Given the description of an element on the screen output the (x, y) to click on. 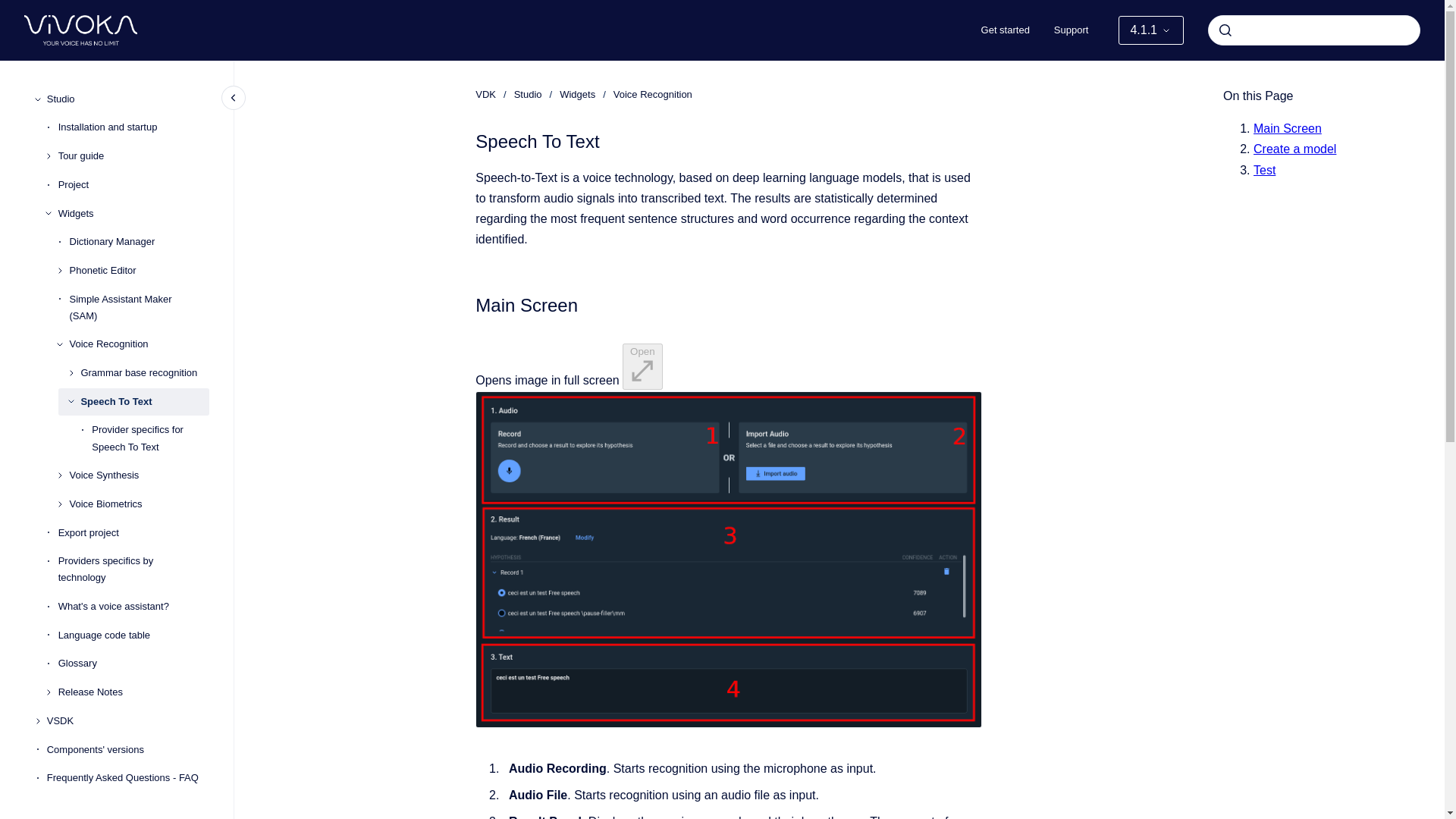
Get started (1005, 29)
Voice Recognition (139, 344)
Project (133, 185)
Release Notes (133, 691)
Glossary (133, 664)
Provider specifics for Speech To Text (150, 438)
Language code table (133, 635)
Go to homepage (80, 30)
VSDK (127, 720)
Export project (133, 533)
